Given the description of an element on the screen output the (x, y) to click on. 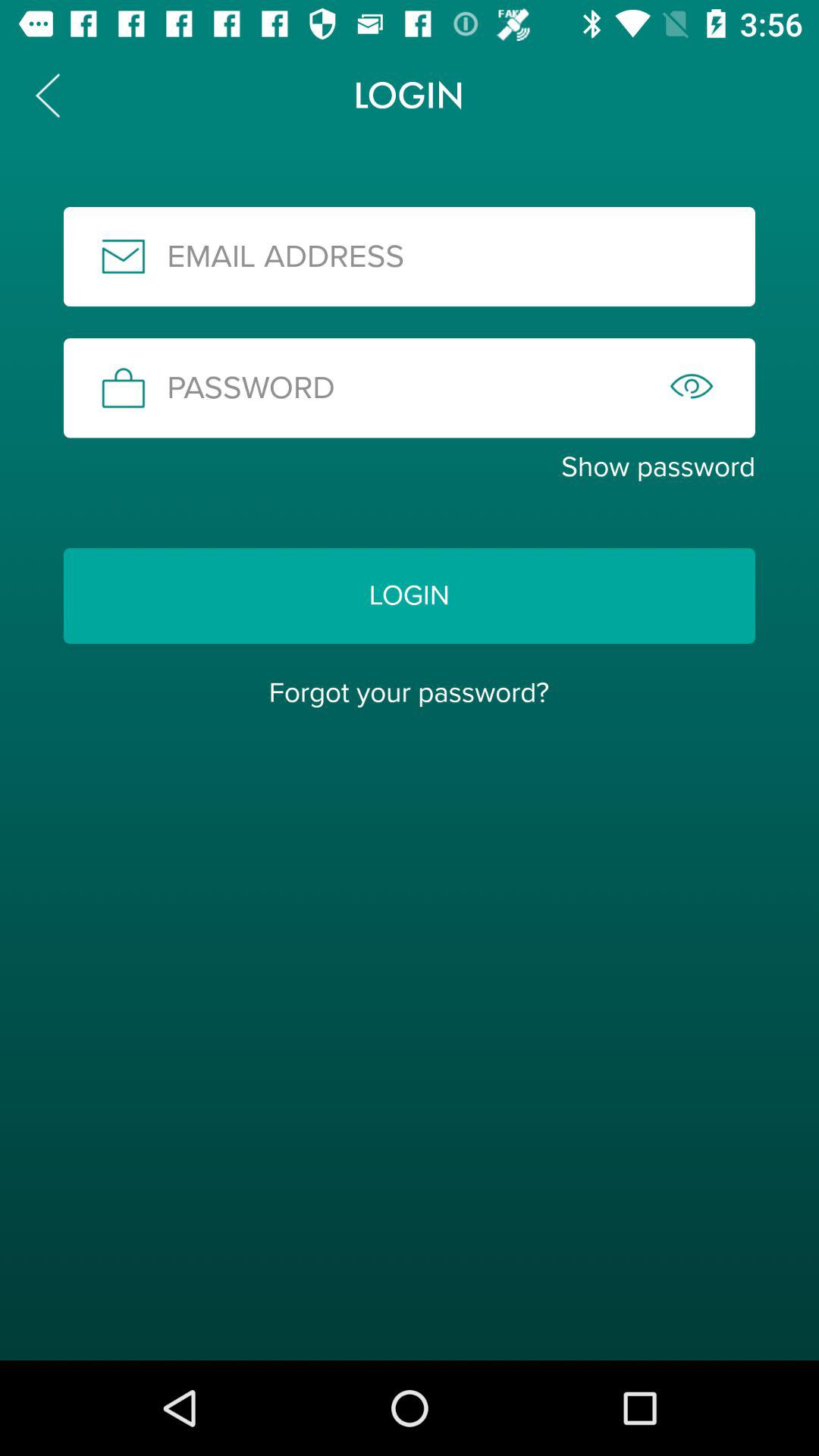
type the email address (409, 256)
